Given the description of an element on the screen output the (x, y) to click on. 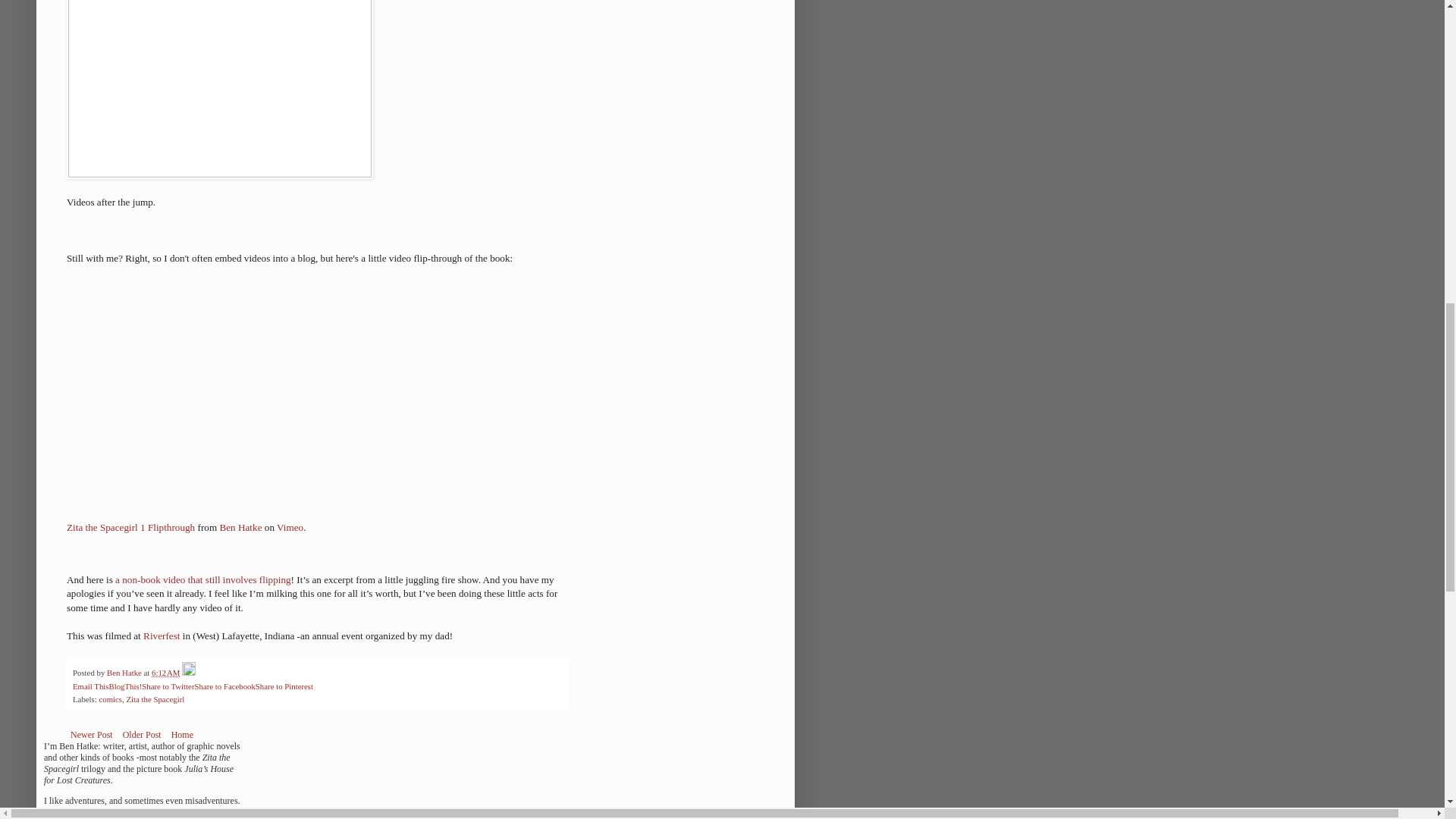
Share to Facebook (223, 686)
permanent link (165, 672)
Ben Hatke (125, 672)
Ben Hatke (240, 527)
Older Post (142, 734)
Share to Twitter (167, 686)
BlogThis! (124, 686)
Riverfest (160, 635)
Older Post (142, 734)
author profile (125, 672)
Newer Post (91, 734)
Share to Pinterest (284, 686)
Share to Facebook (223, 686)
Home (181, 734)
